Given the description of an element on the screen output the (x, y) to click on. 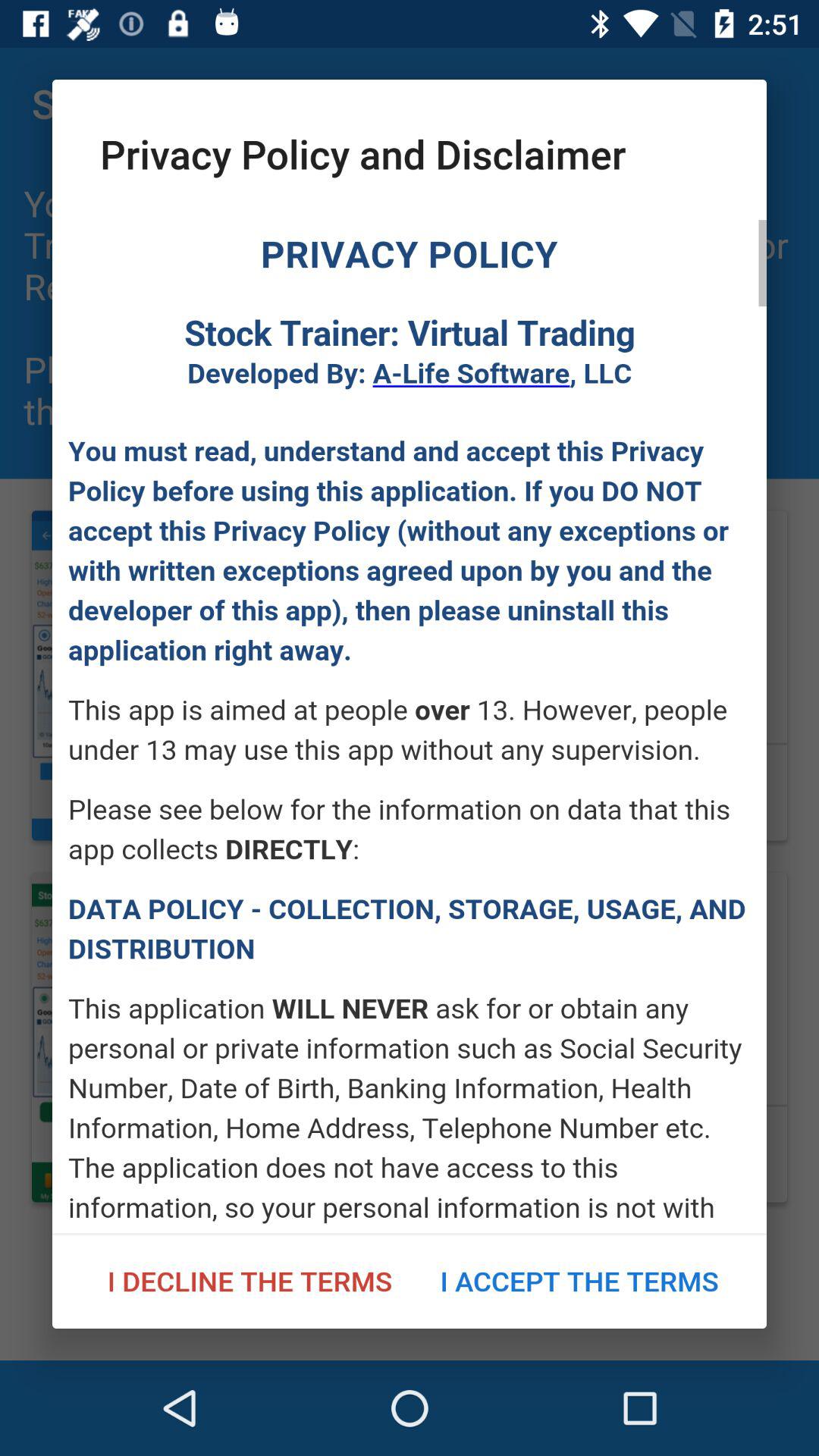
main page content page (409, 726)
